Given the description of an element on the screen output the (x, y) to click on. 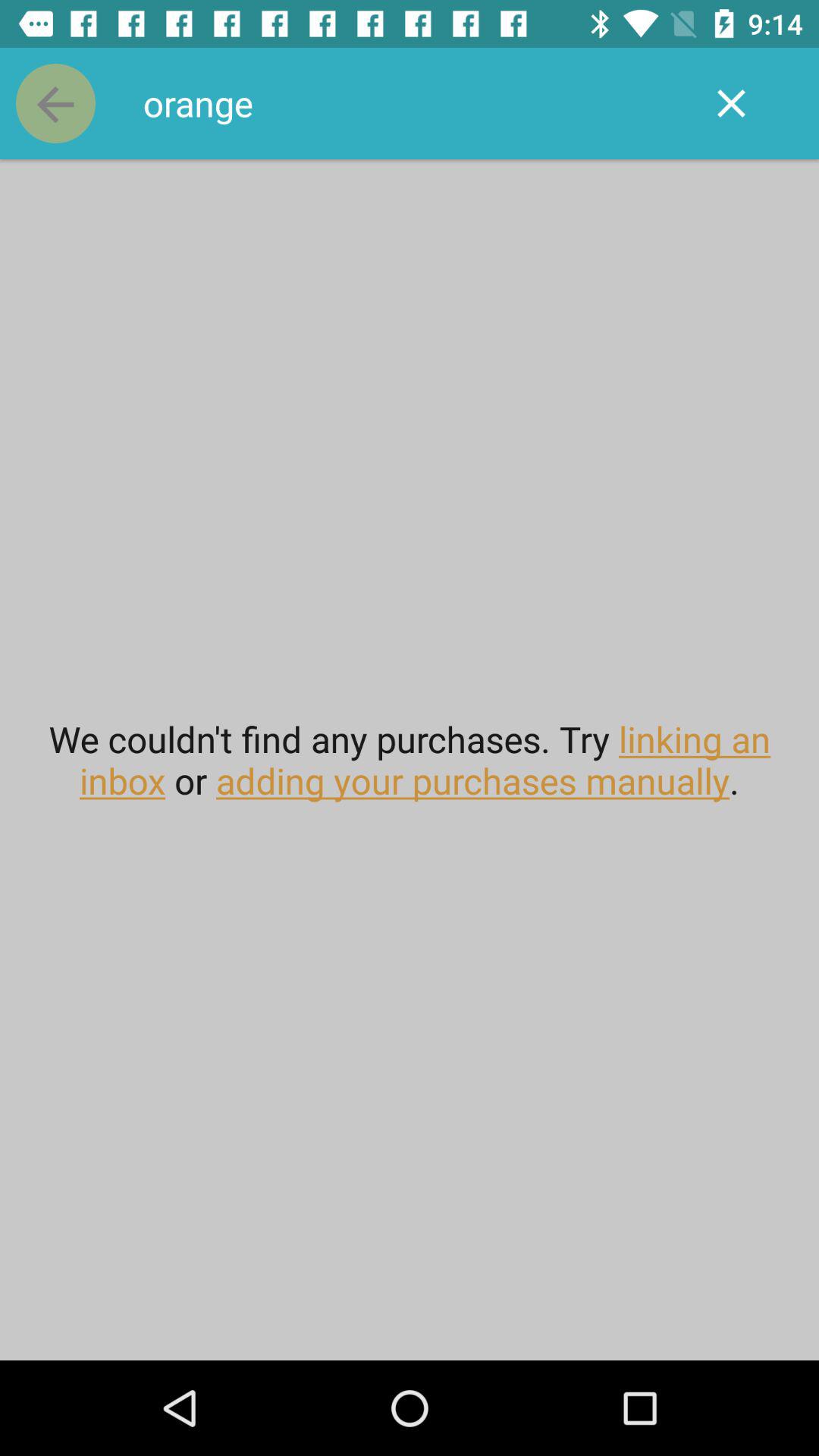
click the item above we couldn t item (409, 103)
